Given the description of an element on the screen output the (x, y) to click on. 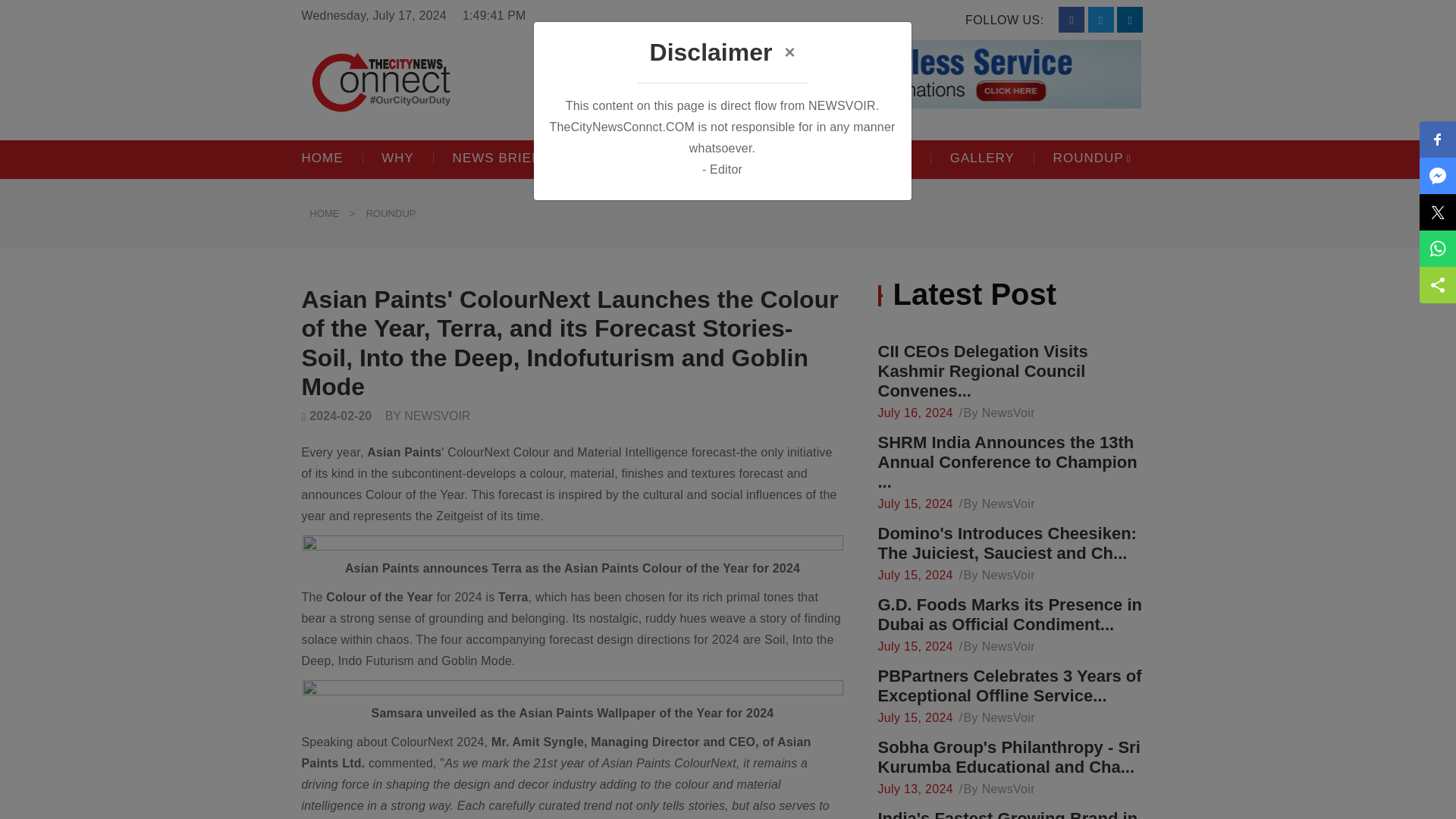
2024-02-20 (336, 415)
EVENTS CONNECT (856, 158)
OPINION (618, 158)
July 15, 2024 (915, 575)
July 15, 2024 (915, 717)
ROUNDUP (1088, 158)
WHY (407, 158)
NewsVoir (1008, 717)
July 15, 2024 (915, 504)
July 15, 2024 (915, 646)
NewsVoir (1008, 646)
NEWSVOIR (437, 415)
NEWS BRIEF (506, 158)
NewsVoir (1008, 789)
